Given the description of an element on the screen output the (x, y) to click on. 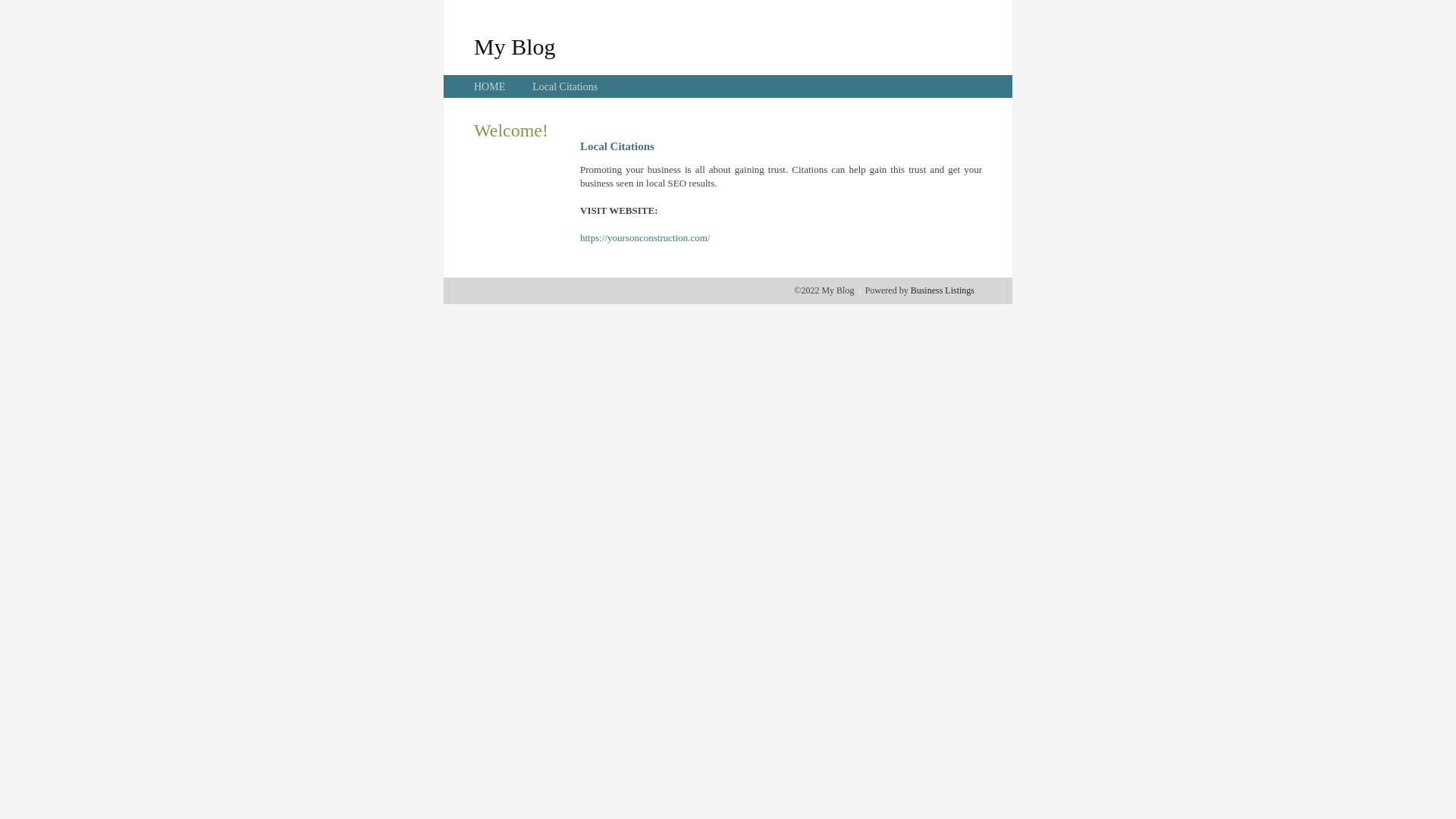
Business Listings Element type: text (942, 290)
My Blog Element type: text (514, 46)
https://yoursonconstruction.com/ Element type: text (645, 237)
Local Citations Element type: text (564, 86)
HOME Element type: text (489, 86)
